Given the description of an element on the screen output the (x, y) to click on. 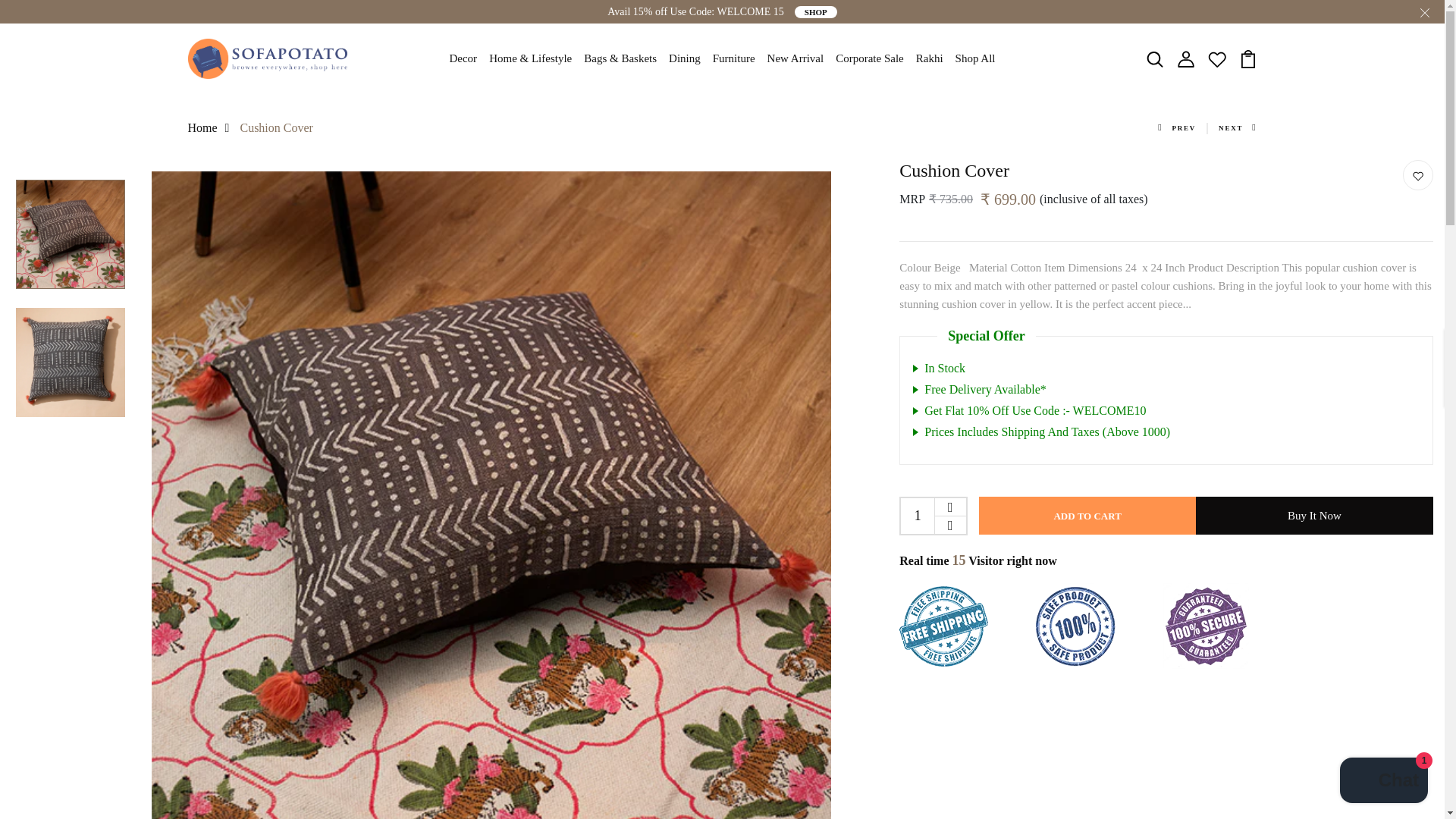
Shop All (975, 58)
Dining (684, 58)
Decor (462, 58)
Corporate Sale (869, 58)
Rakhi (929, 58)
SHOP (815, 11)
Furniture (733, 58)
Dining (684, 58)
1 (917, 515)
Decor (462, 58)
New Arrival (795, 58)
